Given the description of an element on the screen output the (x, y) to click on. 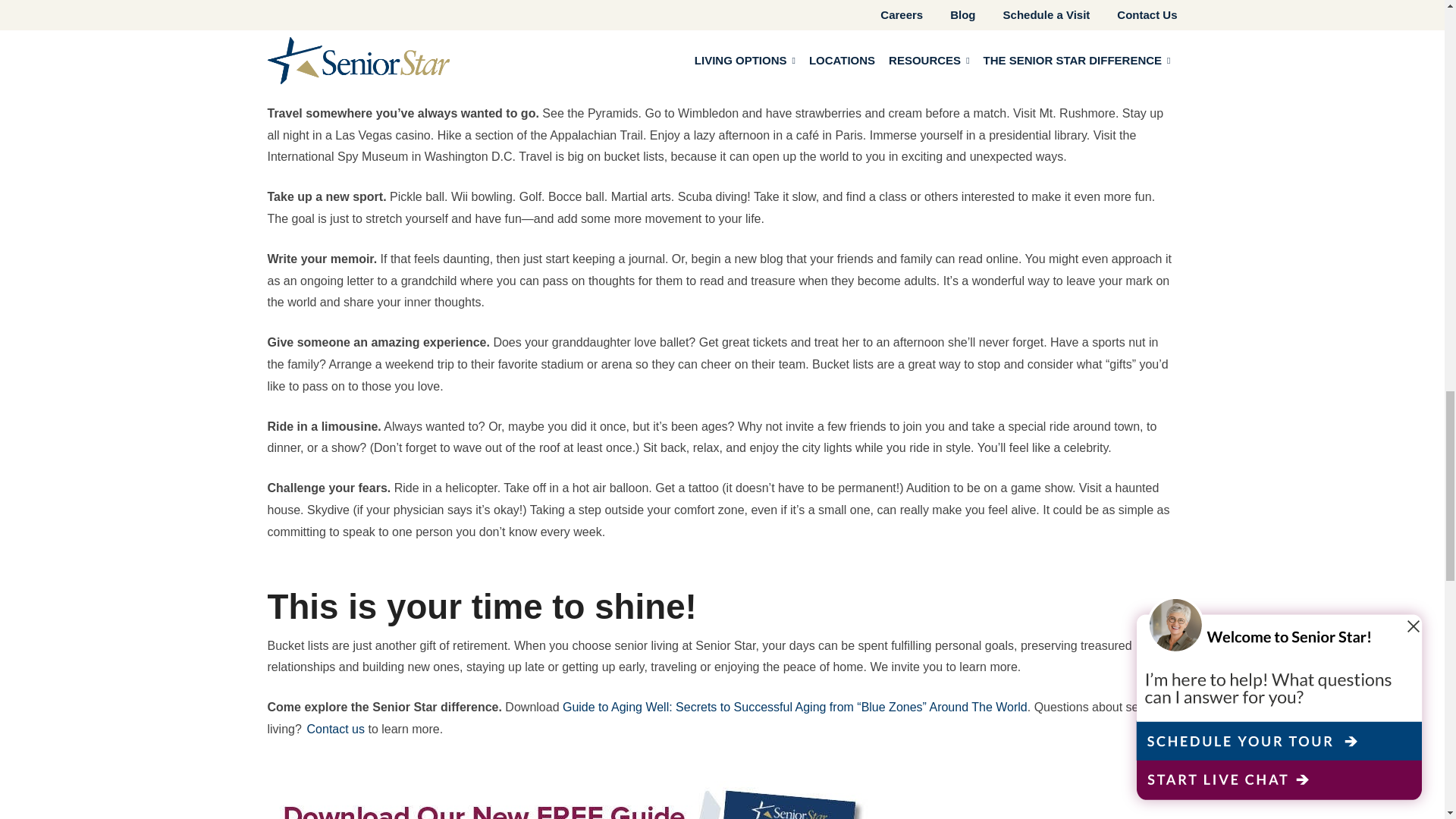
Contact us (336, 728)
